Given the description of an element on the screen output the (x, y) to click on. 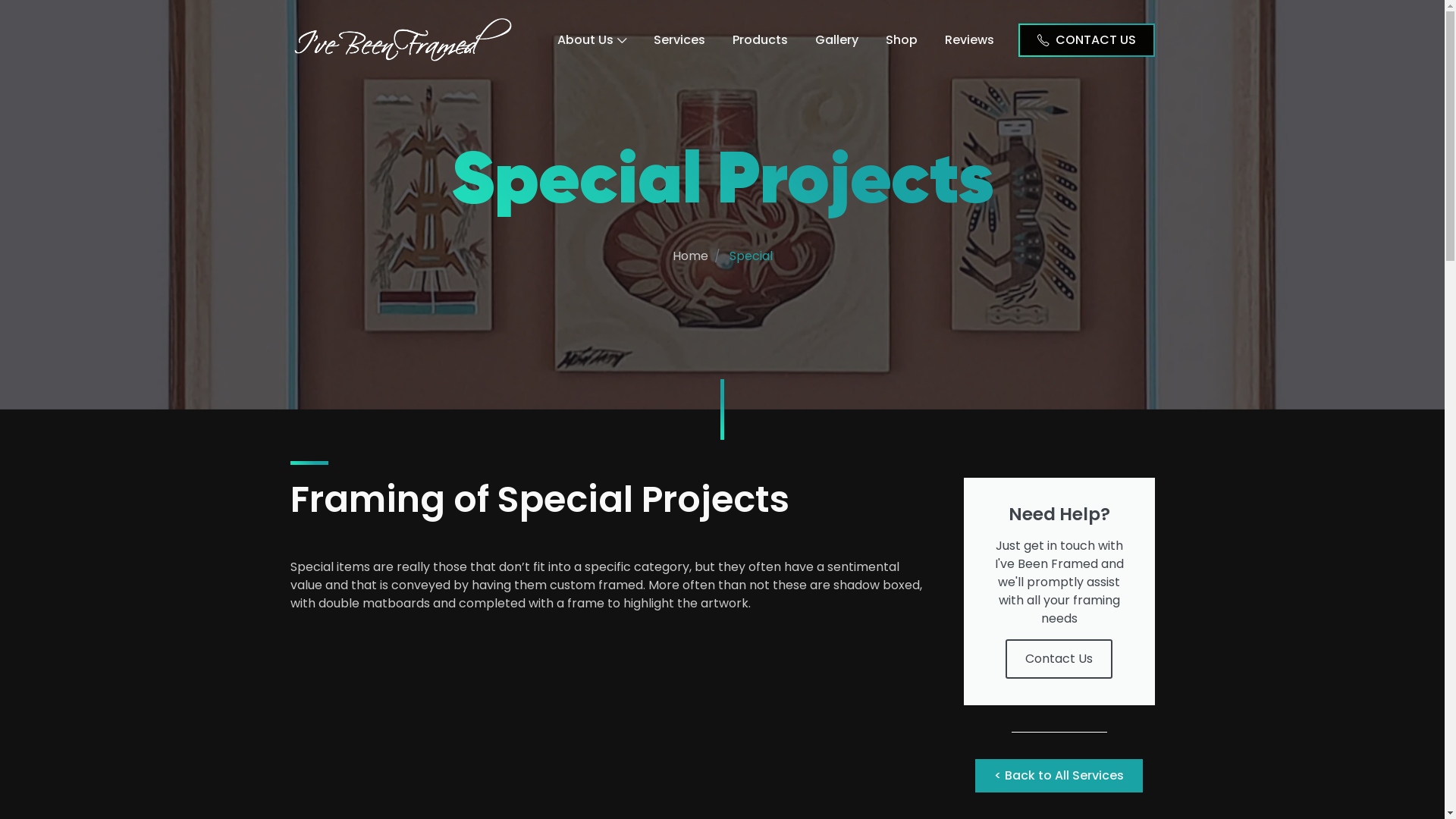
Shop Element type: text (901, 39)
< Back to All Services Element type: text (1058, 775)
Services Element type: text (679, 39)
Contact Us Element type: text (1058, 658)
Home Element type: text (689, 255)
Reviews Element type: text (969, 39)
CONTACT US Element type: text (1085, 39)
About Us Element type: text (591, 39)
Products Element type: text (760, 39)
Gallery Element type: text (835, 39)
